Given the description of an element on the screen output the (x, y) to click on. 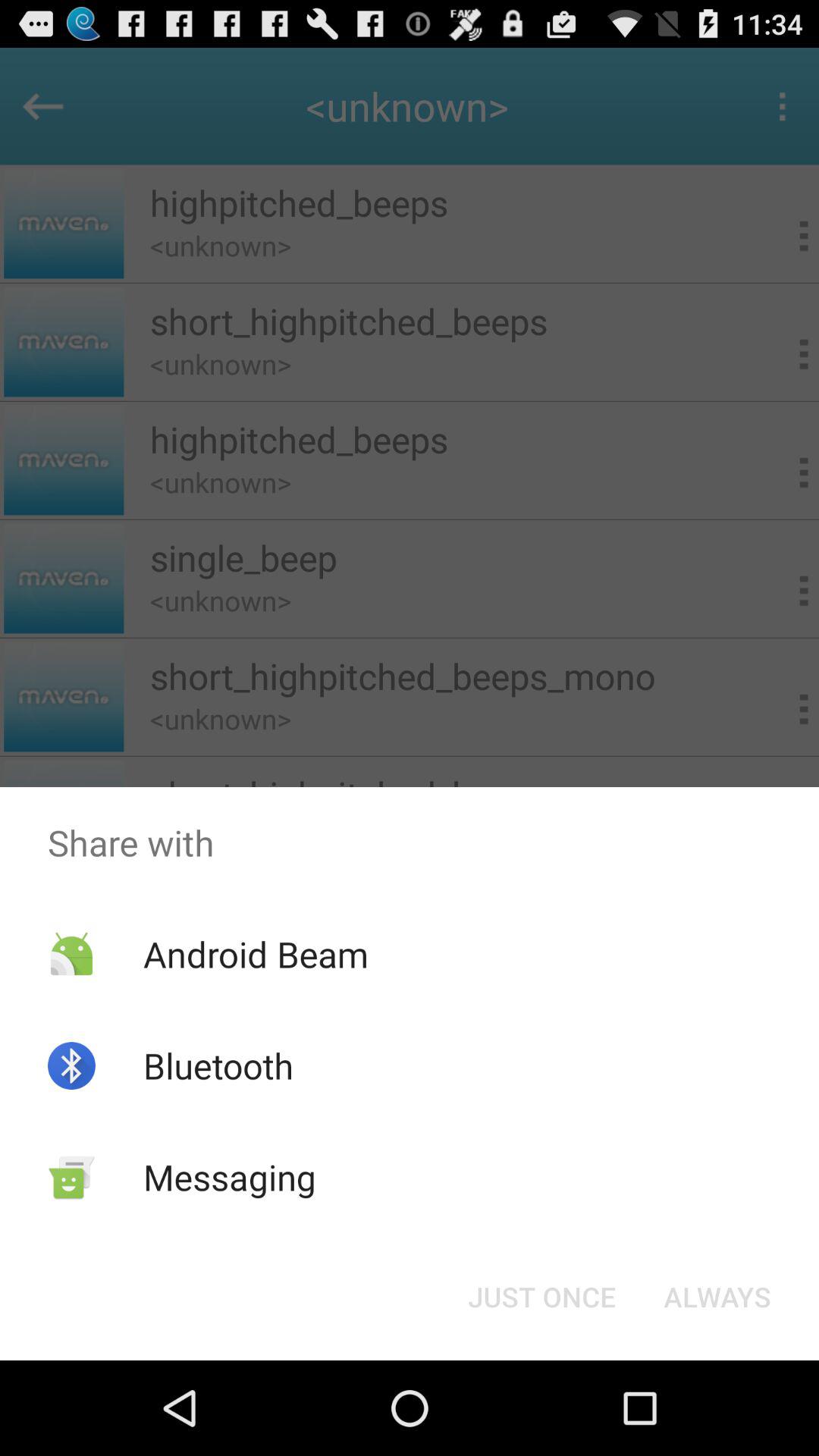
click item below the android beam icon (218, 1065)
